Given the description of an element on the screen output the (x, y) to click on. 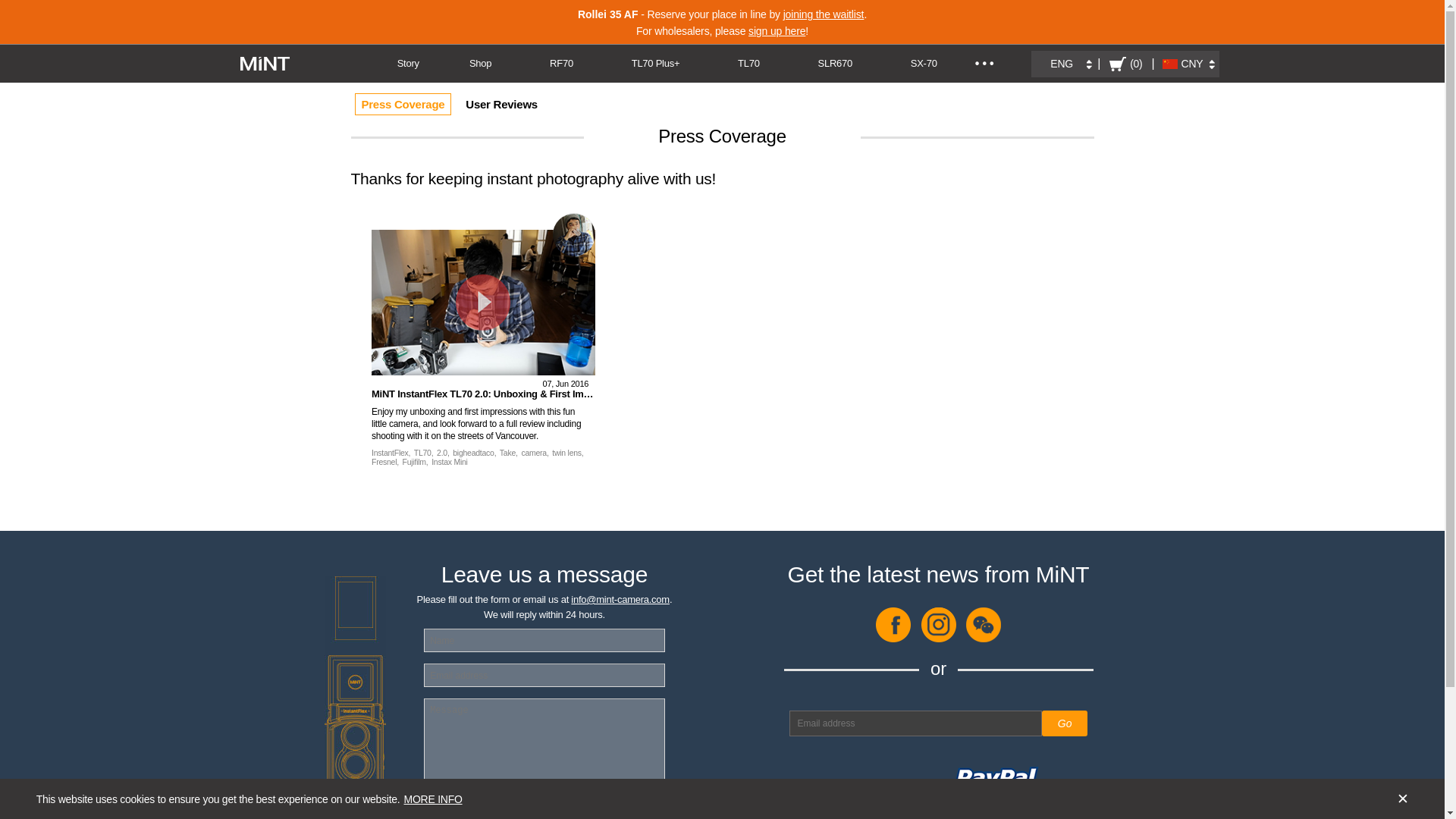
sign up here (776, 30)
SX-70 (923, 63)
joining the waitlist (823, 14)
MiNT Camera (264, 63)
SLR670 (834, 63)
TL70 (749, 63)
Shop (481, 63)
WeChat ID: MintCameraNat (983, 638)
RF70 (561, 63)
bigheadtaco (574, 234)
